Given the description of an element on the screen output the (x, y) to click on. 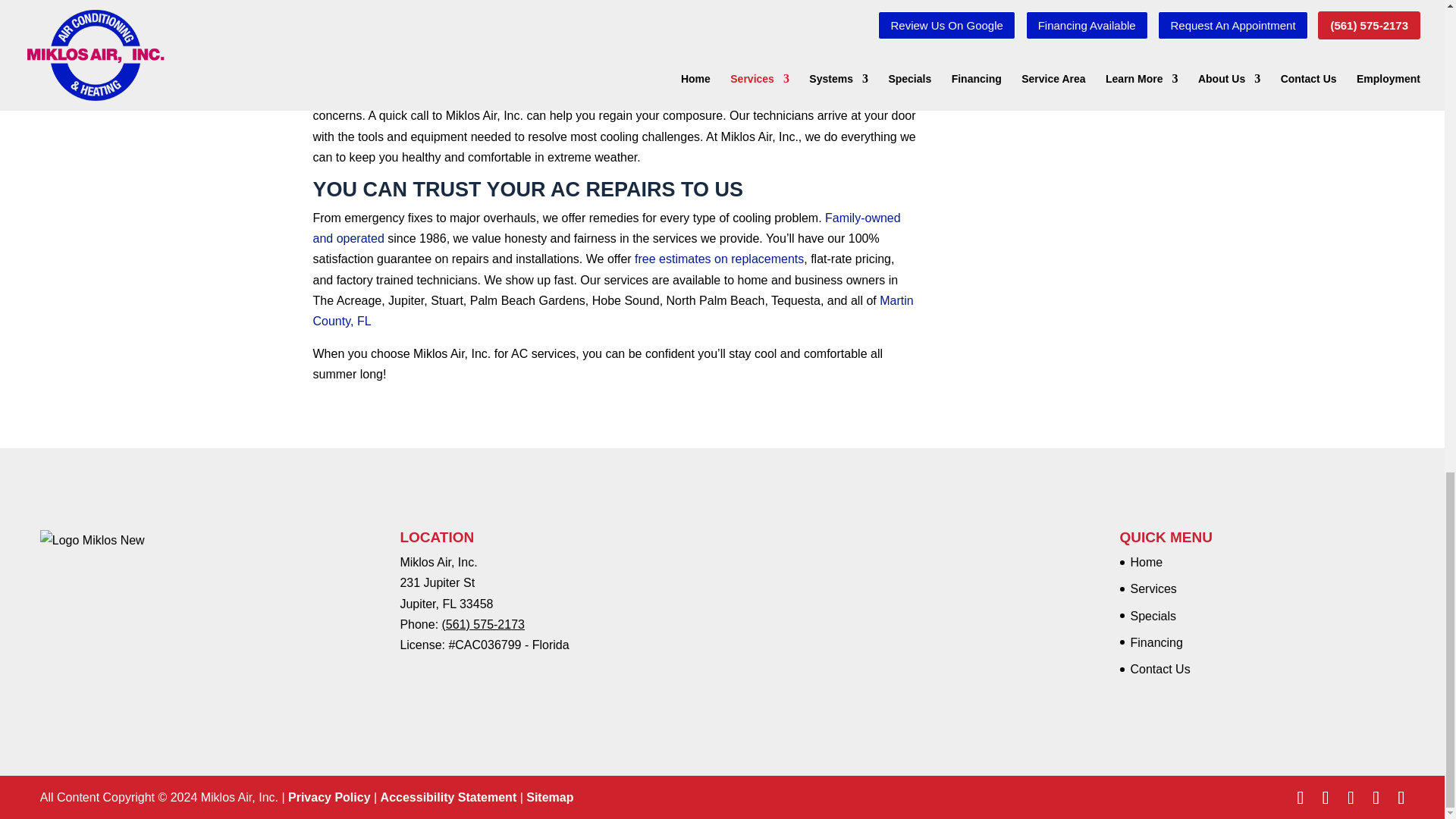
free estimates on replacements (718, 258)
Family-owned and operated (606, 227)
Martin County, FL (612, 310)
